Given the description of an element on the screen output the (x, y) to click on. 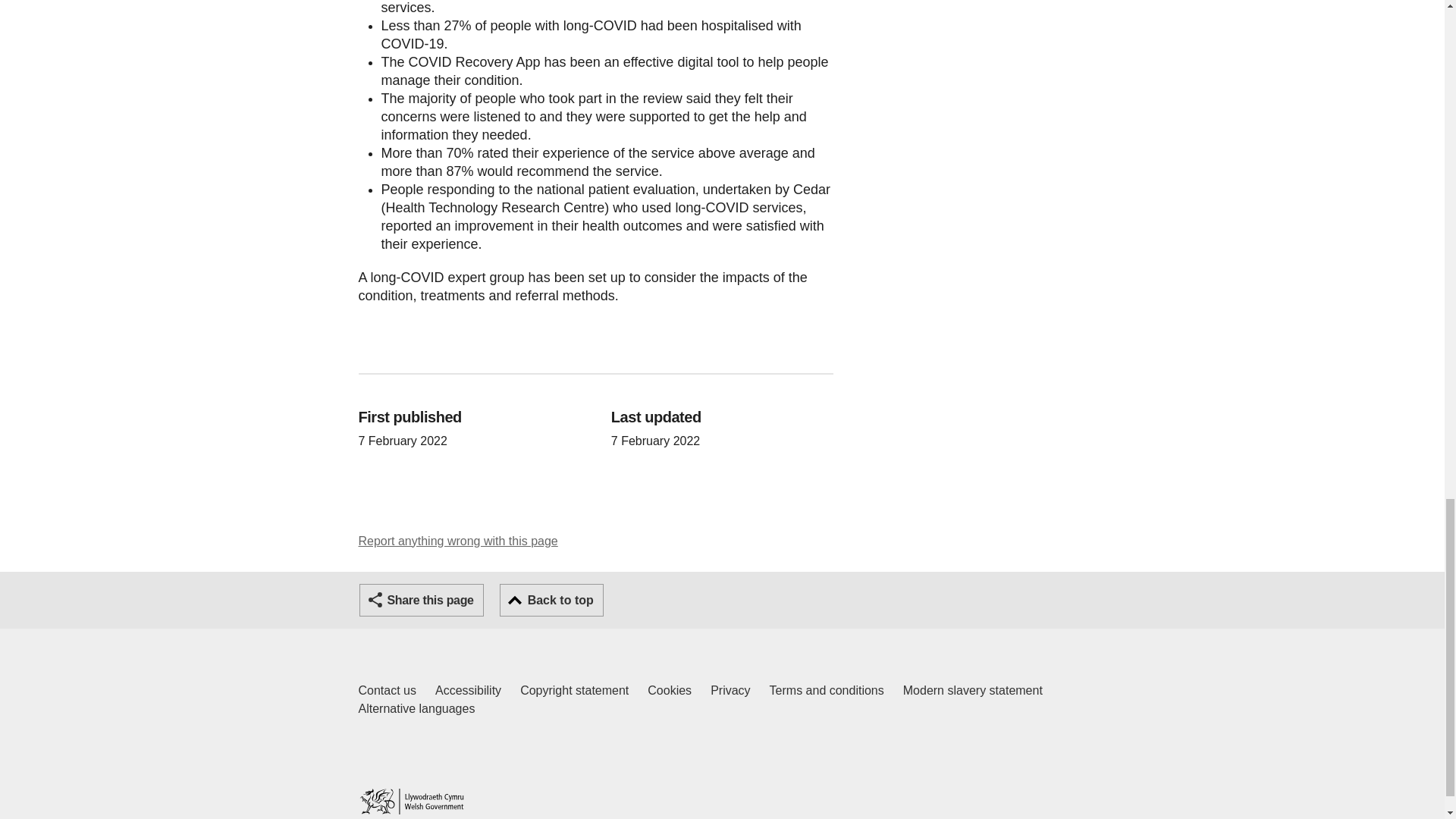
Home (411, 801)
Accessibility (467, 690)
Modern slavery statement (972, 690)
Terms and conditions (826, 690)
Report anything wrong with this page (386, 690)
Cookies (457, 540)
Copyright statement (669, 690)
Share this page (573, 690)
Privacy (421, 599)
Back to top (729, 690)
Alternative languages (551, 599)
